Given the description of an element on the screen output the (x, y) to click on. 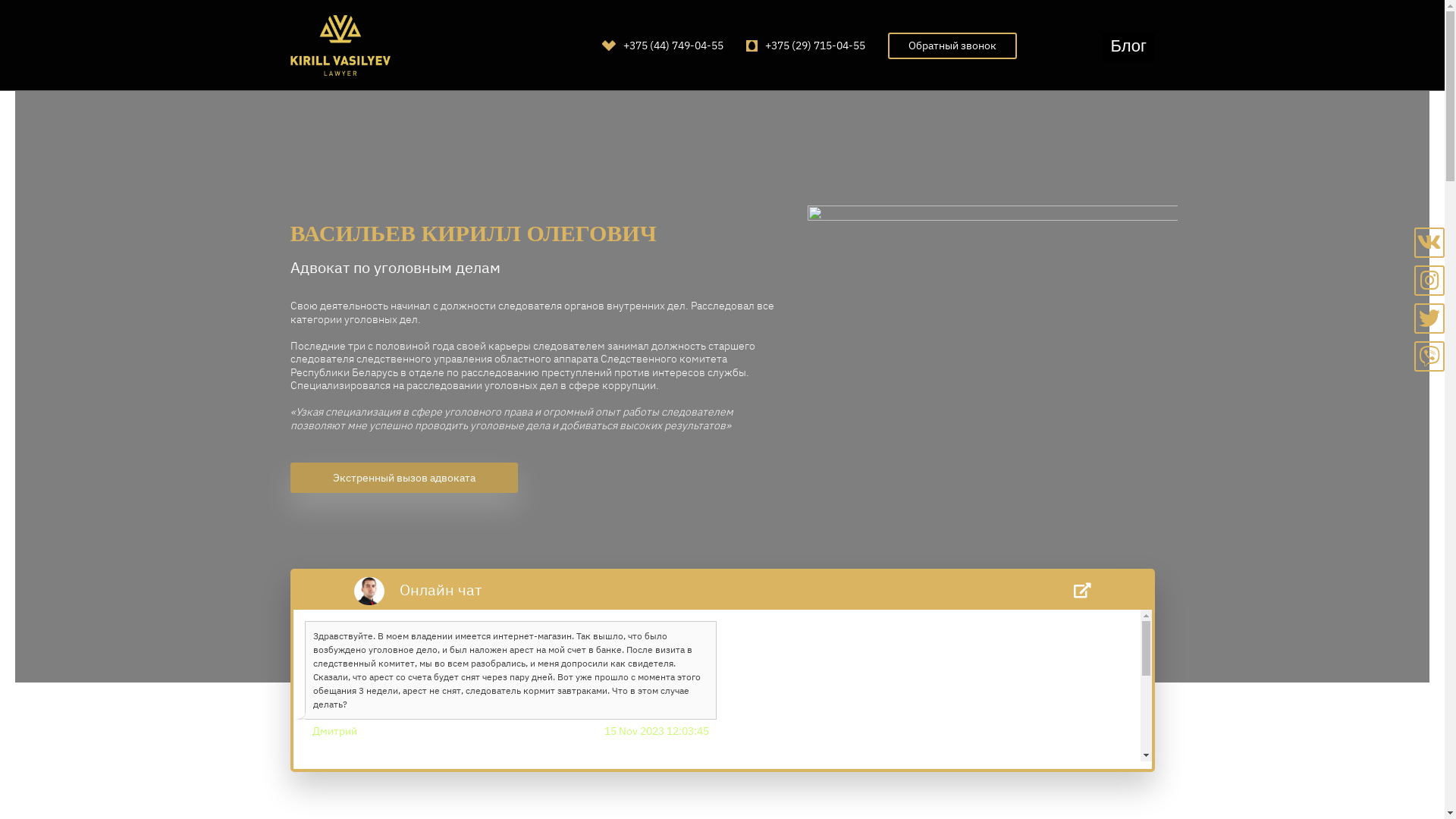
+375 (29) 715-04-55 Element type: text (805, 45)
+375 (44) 749-04-55 Element type: text (662, 45)
